Given the description of an element on the screen output the (x, y) to click on. 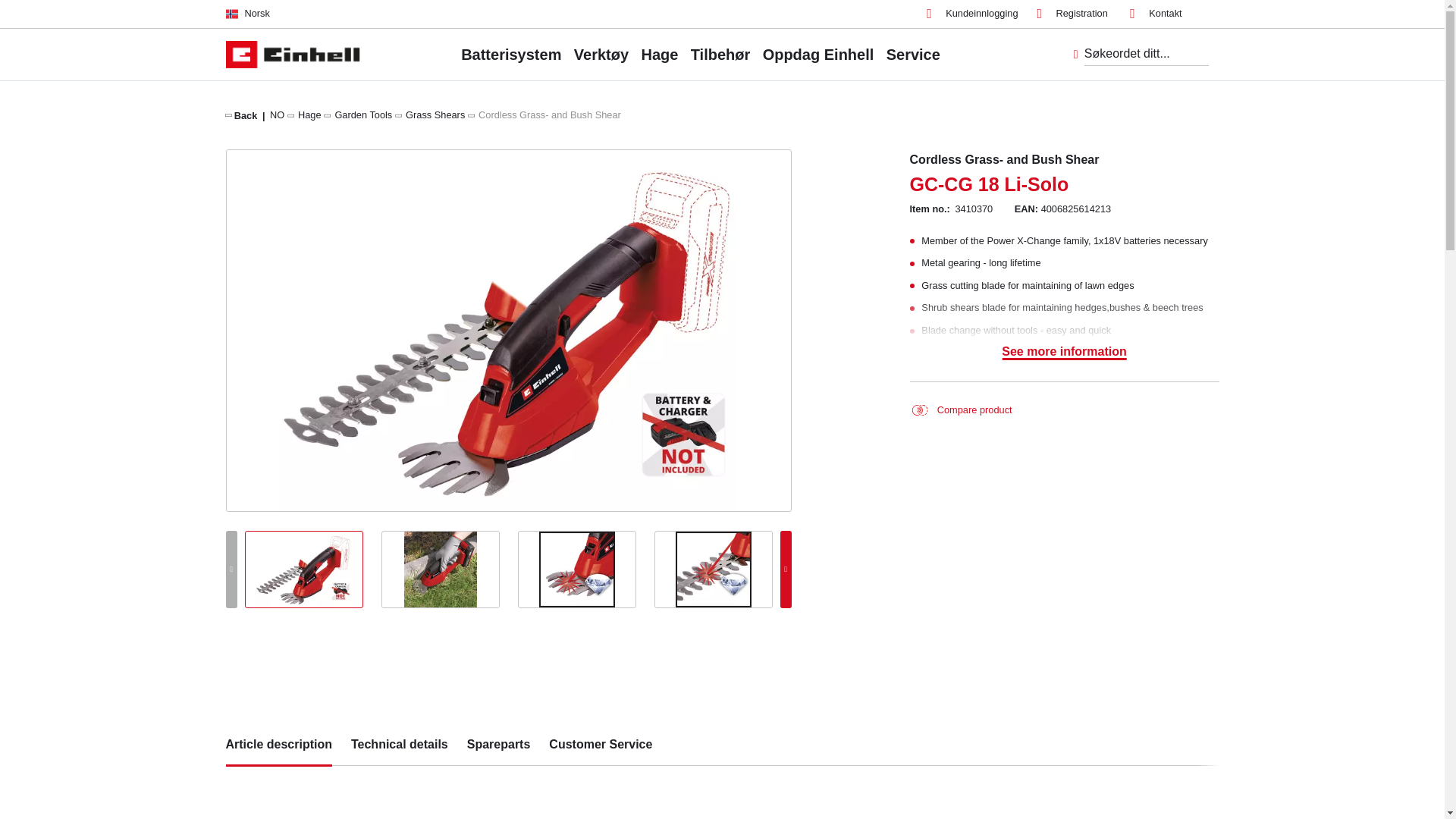
Batterisystem (510, 54)
Hage (309, 114)
Kundeinnlogging (971, 13)
Kontakt (1154, 13)
NO (276, 114)
Registration (1072, 13)
Grass Shears (435, 114)
Garden Tools (362, 114)
